Given the description of an element on the screen output the (x, y) to click on. 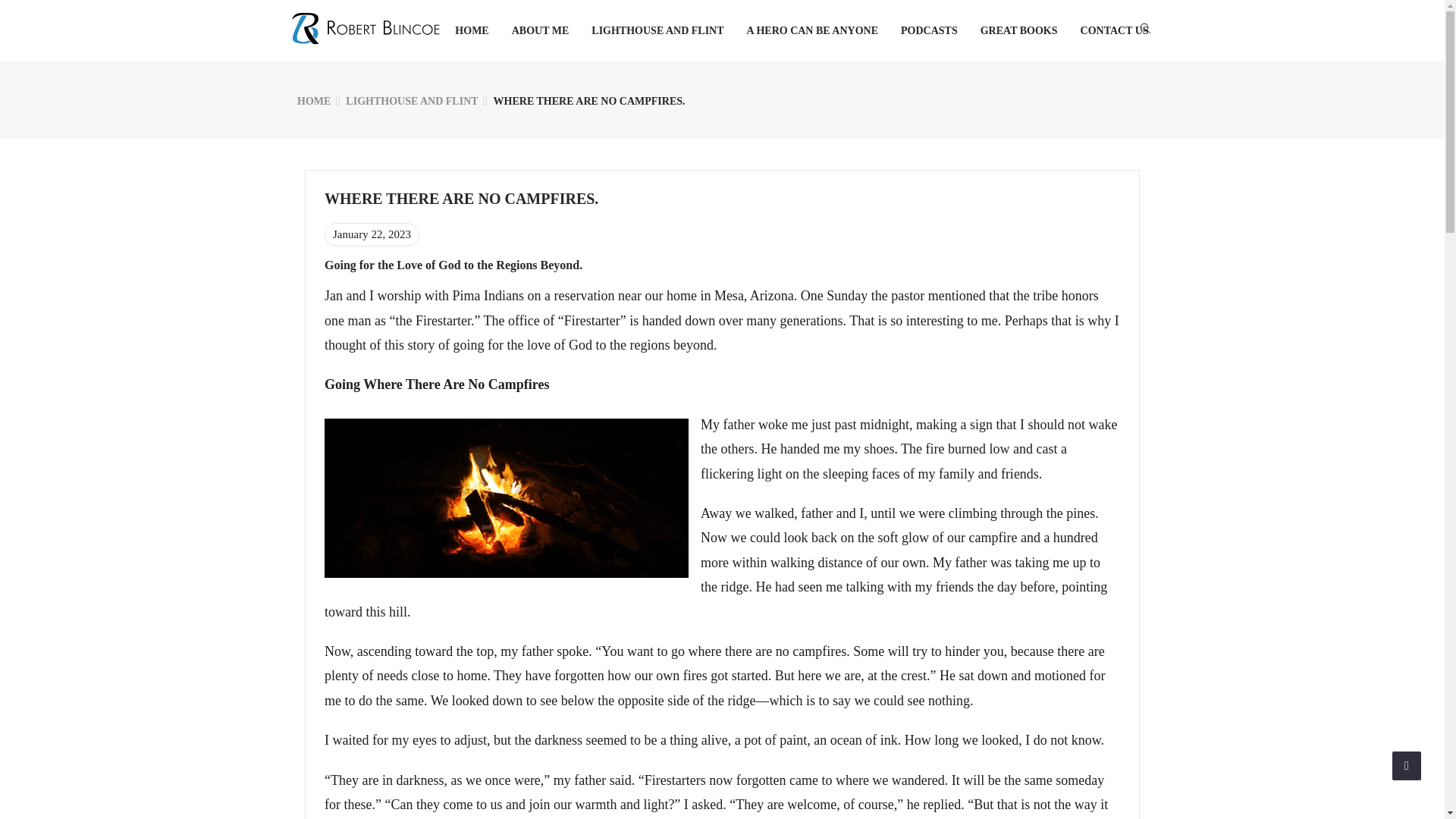
PODCASTS (929, 30)
ABOUT ME (540, 30)
Search (60, 20)
LIGHTHOUSE AND FLINT (657, 30)
CONTACT US (1114, 30)
A HERO CAN BE ANYONE (811, 30)
LIGHTHOUSE AND FLINT (411, 101)
Go to Top (1406, 766)
HOME (313, 101)
HOME (470, 30)
